Given the description of an element on the screen output the (x, y) to click on. 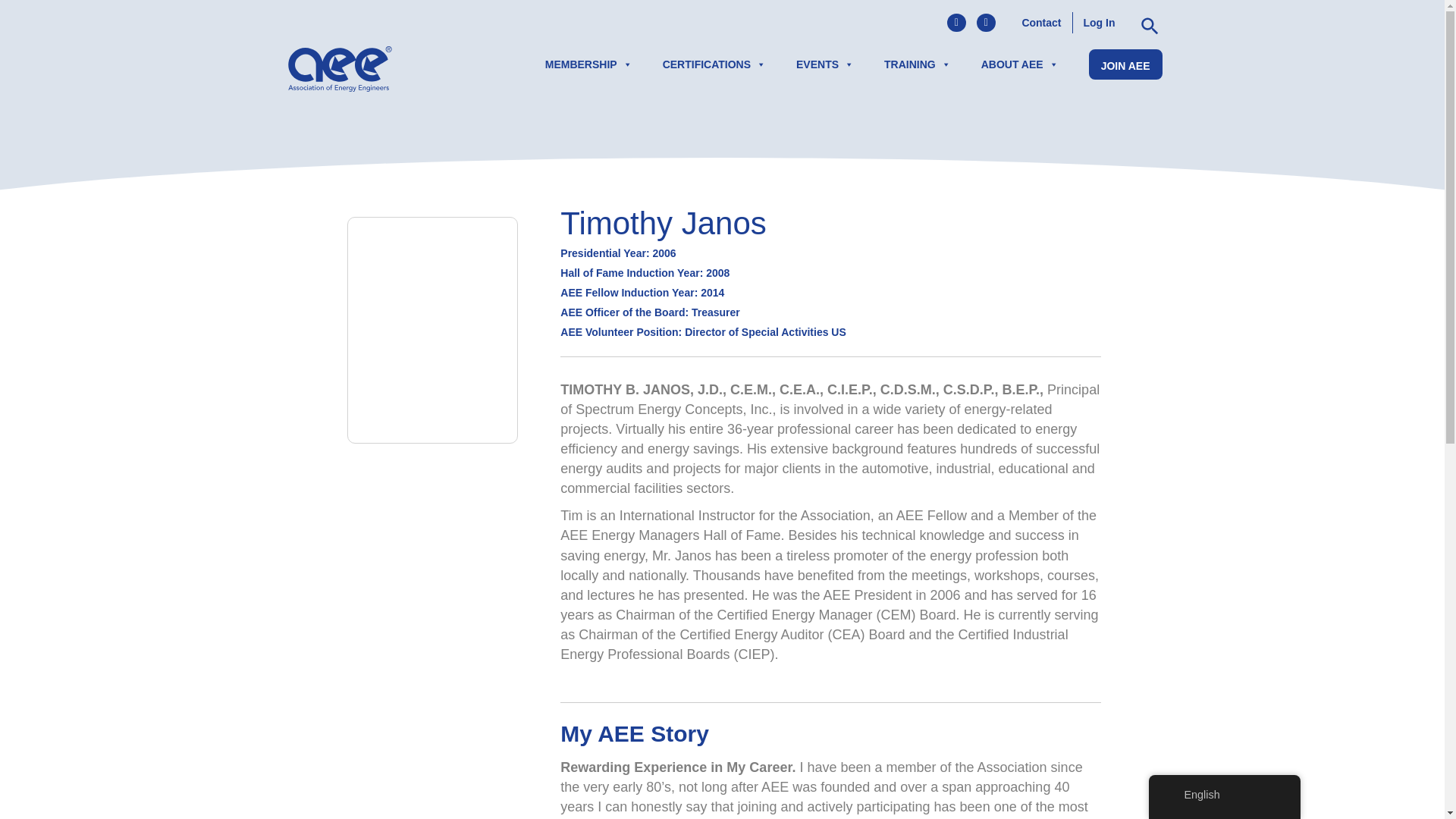
Log In (1098, 22)
English (1172, 794)
MEMBERSHIP (588, 64)
Contact (1040, 22)
